Given the description of an element on the screen output the (x, y) to click on. 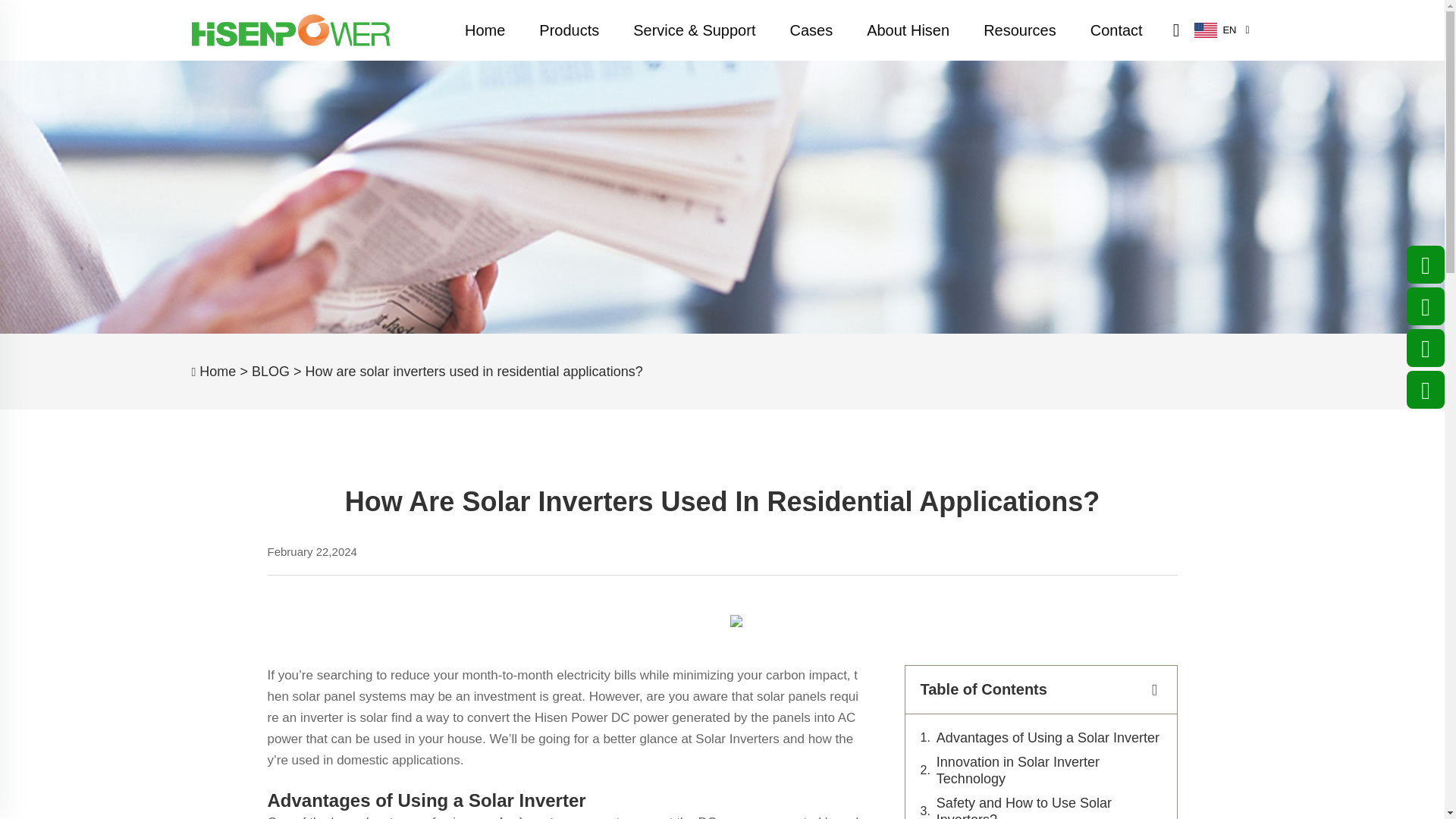
Cases (810, 30)
Home (484, 30)
Contact (1116, 30)
About Hisen (907, 30)
Products (569, 30)
Resources (1019, 30)
